Given the description of an element on the screen output the (x, y) to click on. 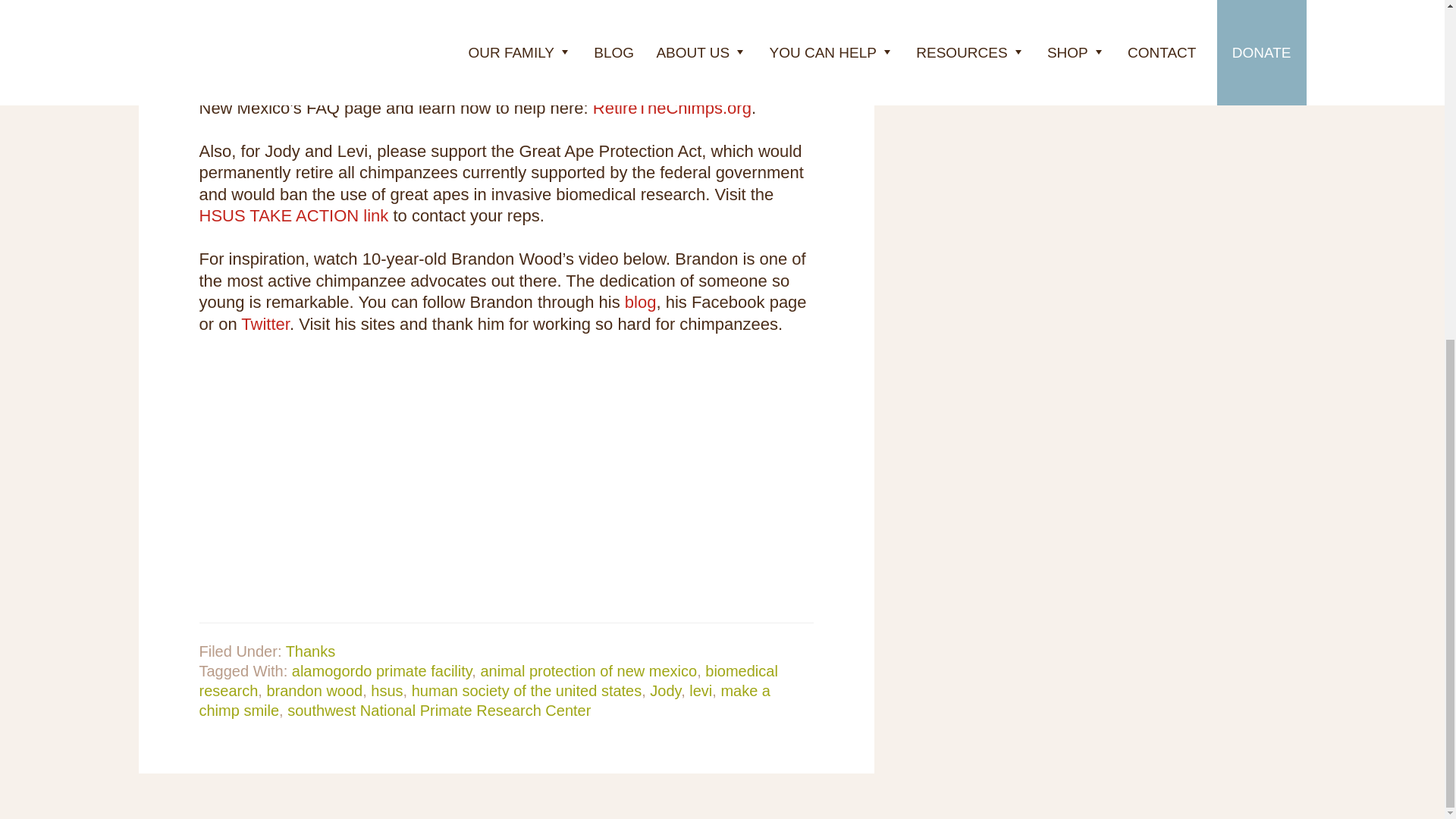
HSUS take action GAPA (293, 215)
Retire the Chimps (671, 107)
